Given the description of an element on the screen output the (x, y) to click on. 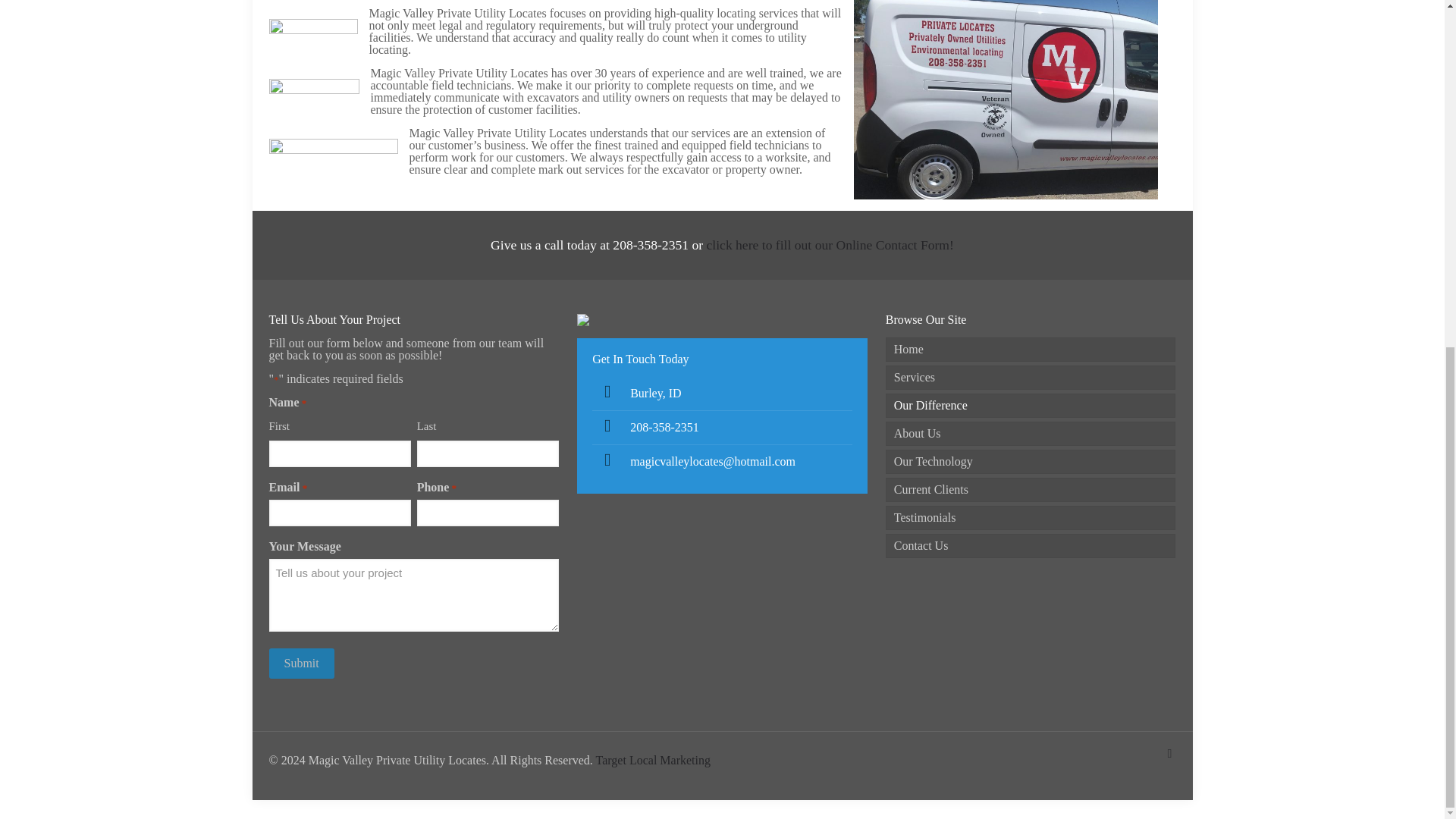
click here to fill out our Online Contact Form! (829, 244)
Our Technology (1030, 461)
Submit (300, 663)
Home (1030, 349)
Services (1030, 377)
Target Local Marketing (652, 759)
Our Difference (1030, 405)
Testimonials (1030, 517)
Contact Us (1030, 545)
About Us (1030, 433)
208-358-2351 (664, 427)
Submit (300, 663)
Current Clients (1030, 489)
